Given the description of an element on the screen output the (x, y) to click on. 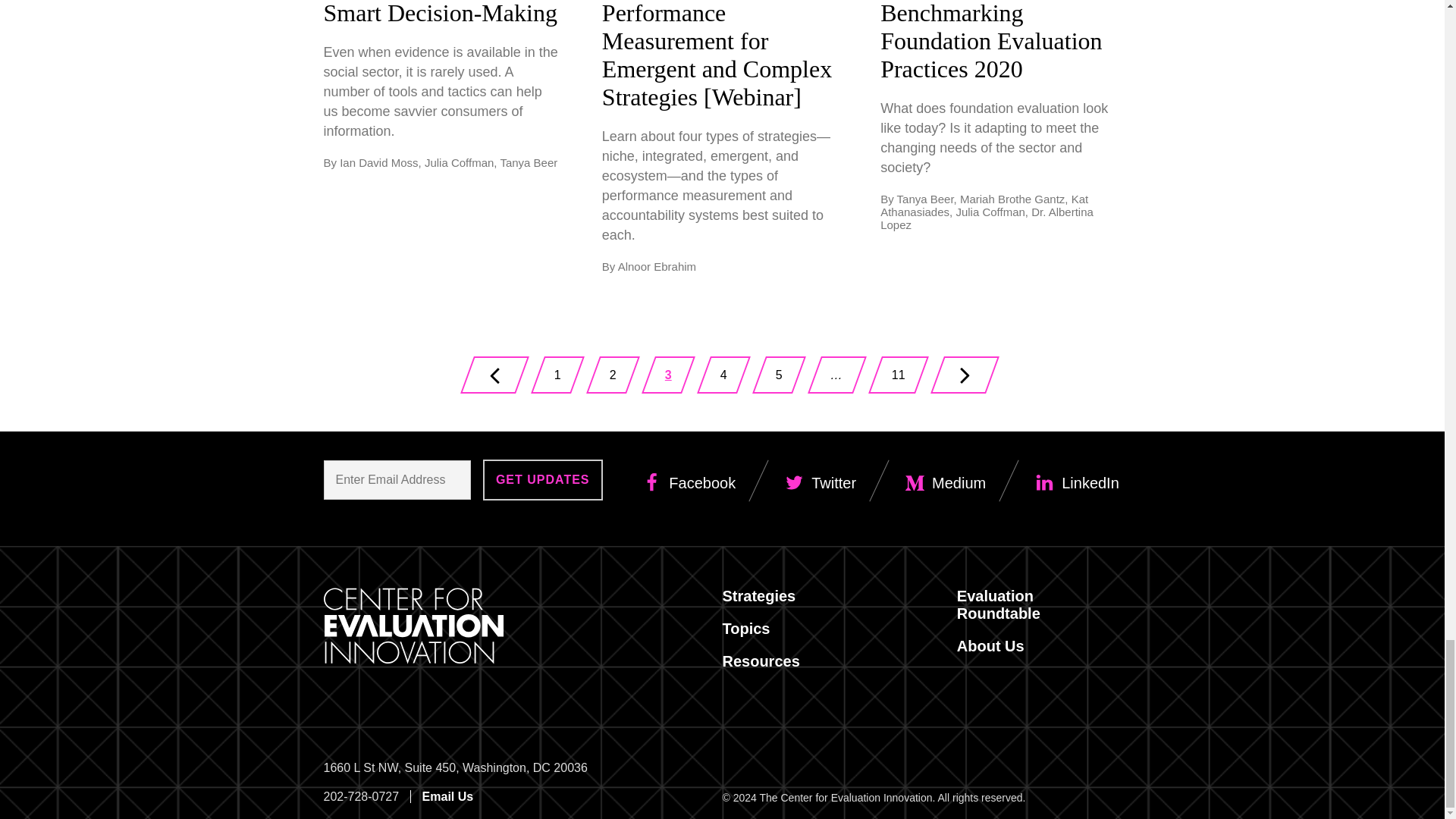
Next (965, 374)
Get Updates (542, 479)
Get Updates (557, 375)
Facebook (542, 479)
Prev (898, 375)
Twitter (688, 483)
